Given the description of an element on the screen output the (x, y) to click on. 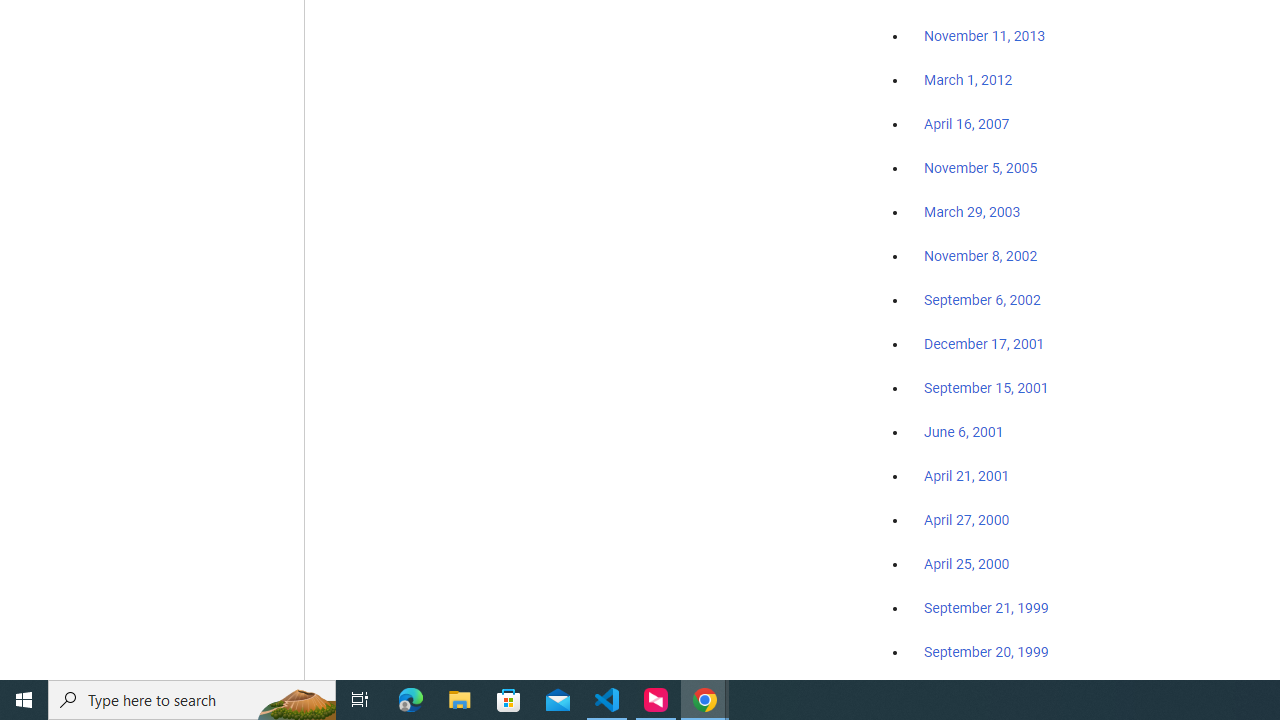
April 25, 2000 (966, 564)
September 21, 1999 (986, 608)
April 27, 2000 (966, 520)
March 29, 2003 (972, 212)
November 5, 2005 (981, 168)
November 8, 2002 (981, 255)
December 17, 2001 (984, 343)
April 21, 2001 (966, 476)
April 16, 2007 (966, 124)
September 6, 2002 (982, 299)
September 20, 1999 (986, 651)
September 15, 2001 (986, 387)
June 6, 2001 (963, 431)
March 1, 2012 (968, 81)
November 11, 2013 (984, 37)
